Given the description of an element on the screen output the (x, y) to click on. 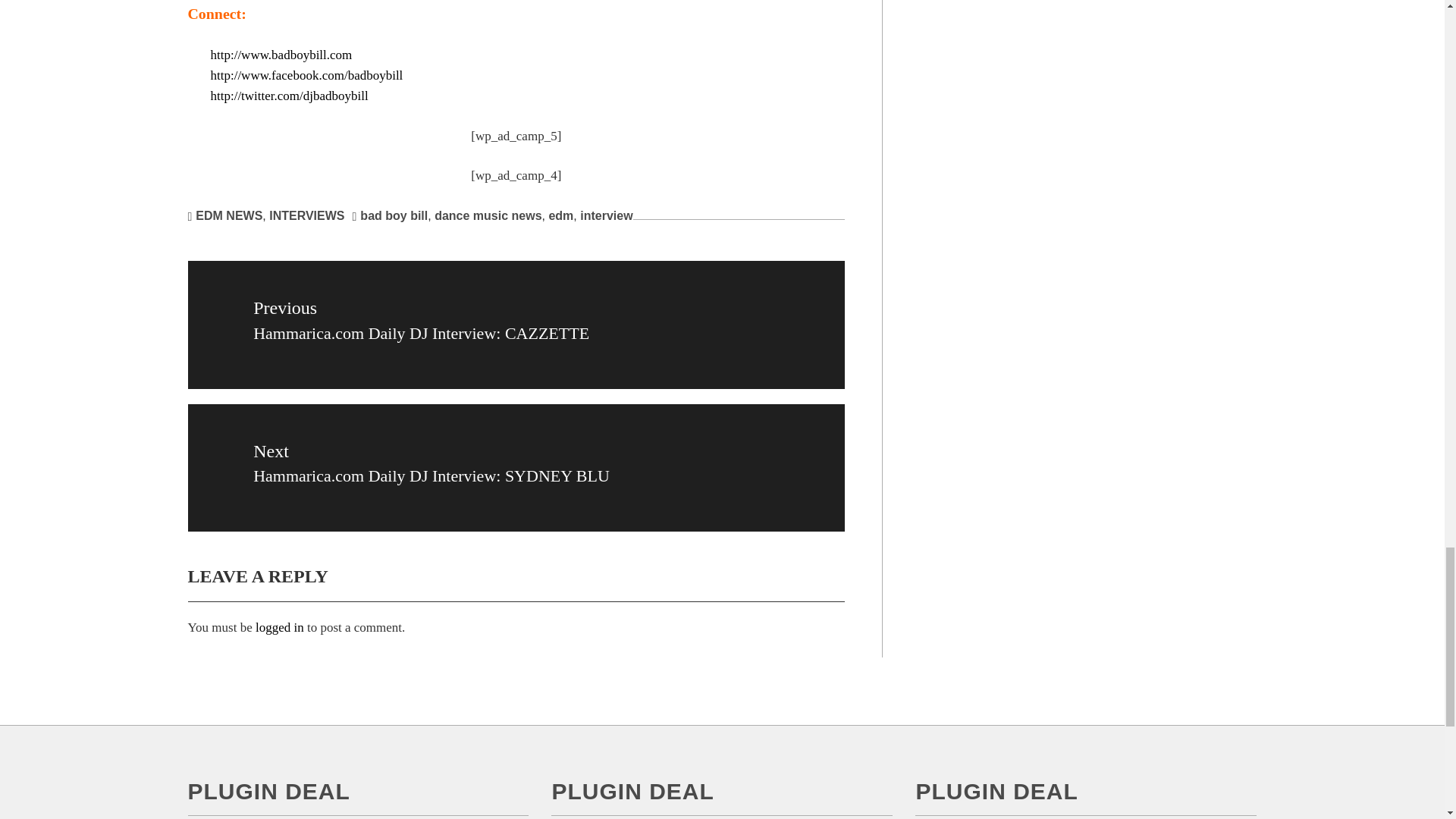
dance music news (487, 215)
logged in (280, 626)
INTERVIEWS (306, 215)
Bad Boy Bill (281, 54)
interview (605, 215)
bad boy bill (393, 215)
edm (560, 215)
EDM NEWS (228, 215)
